Given the description of an element on the screen output the (x, y) to click on. 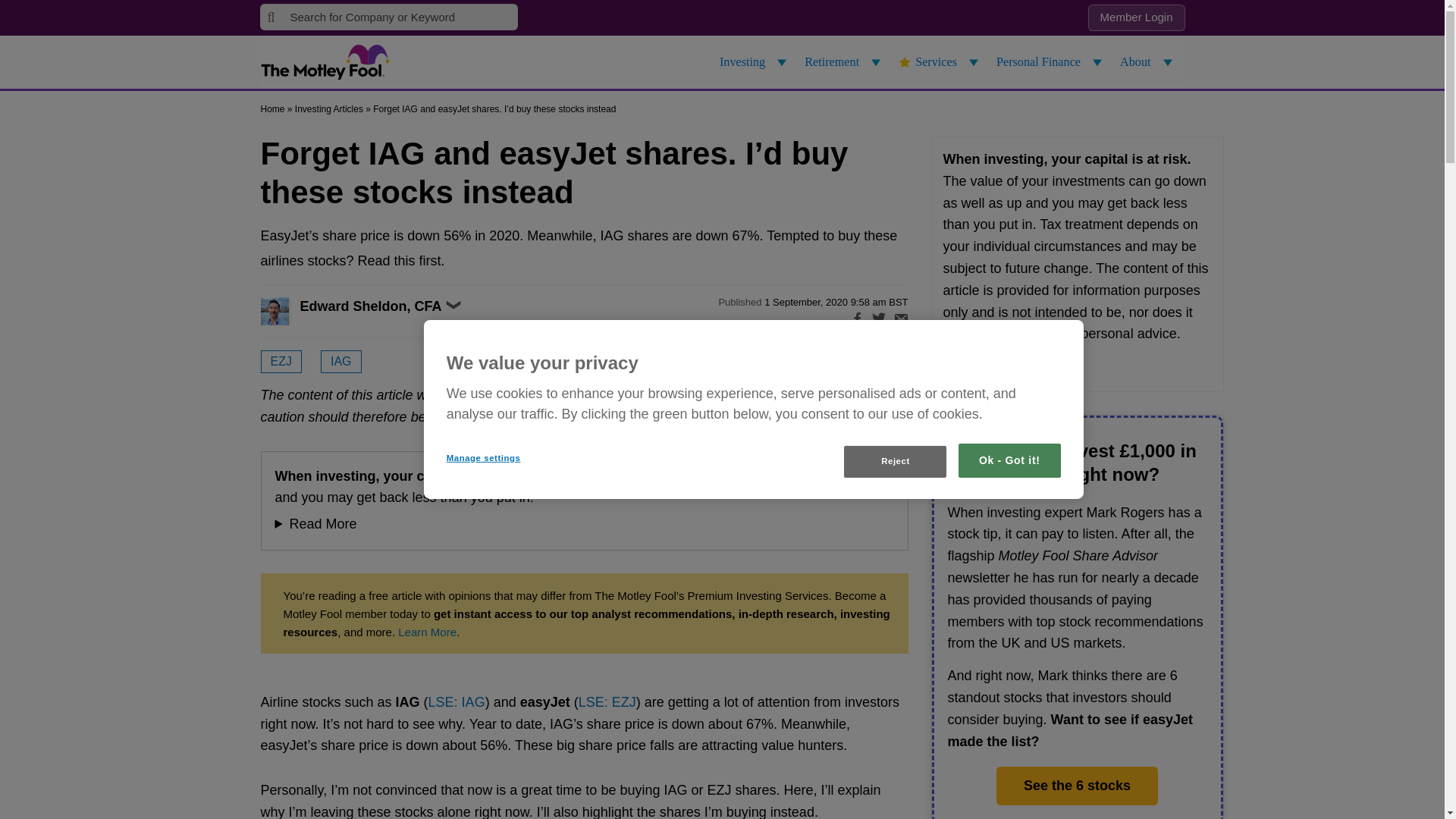
Member Login (1136, 17)
Services (941, 62)
Retirement (844, 62)
See more articles about IAG (340, 361)
See more articles about EZJ (280, 361)
Investing (755, 62)
Edward Sheldon, CFA (290, 311)
